Given the description of an element on the screen output the (x, y) to click on. 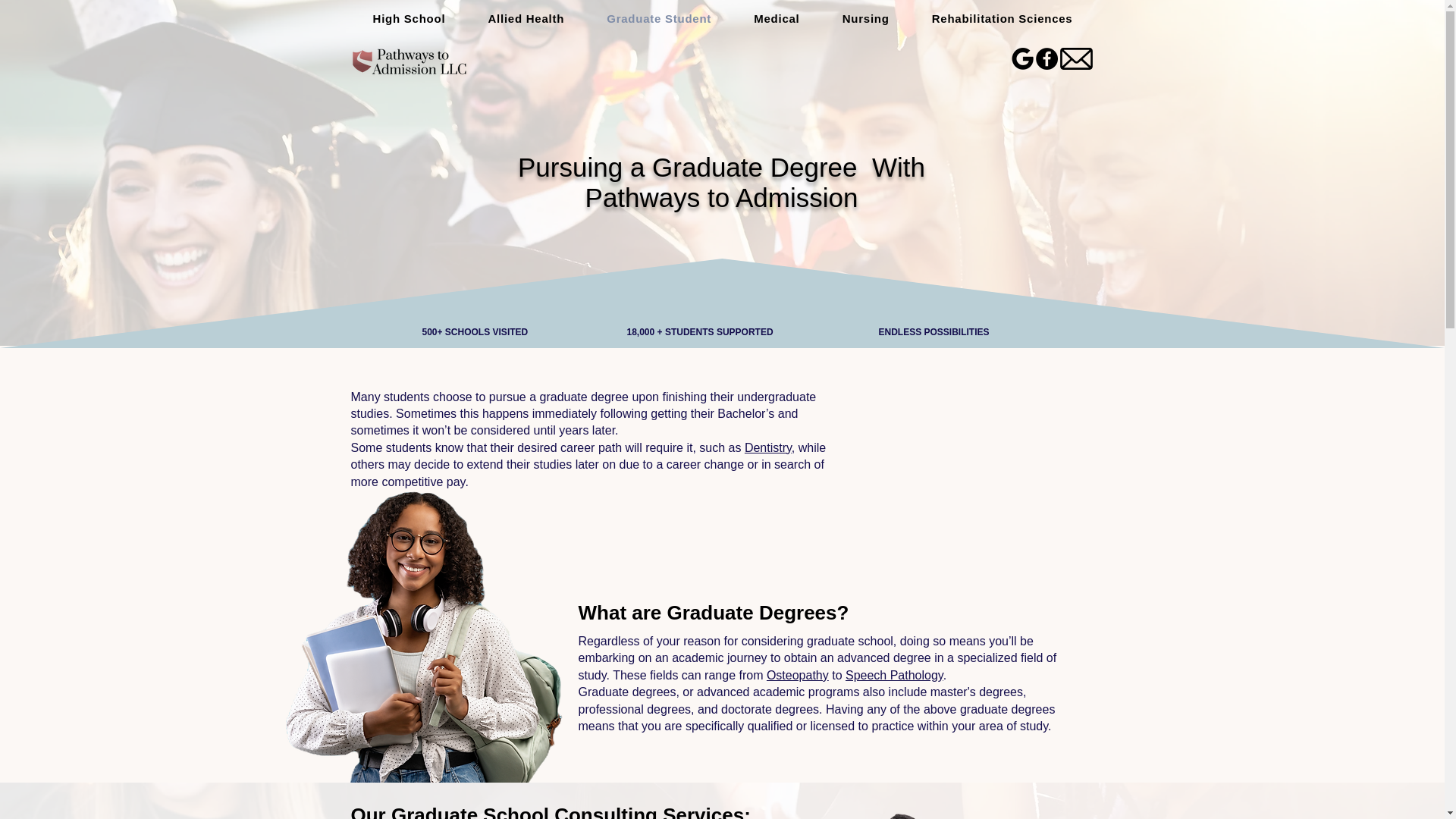
Dentistry (768, 447)
Osteopathy (797, 675)
Speech Pathology (894, 675)
Graduate Student (658, 19)
